Given the description of an element on the screen output the (x, y) to click on. 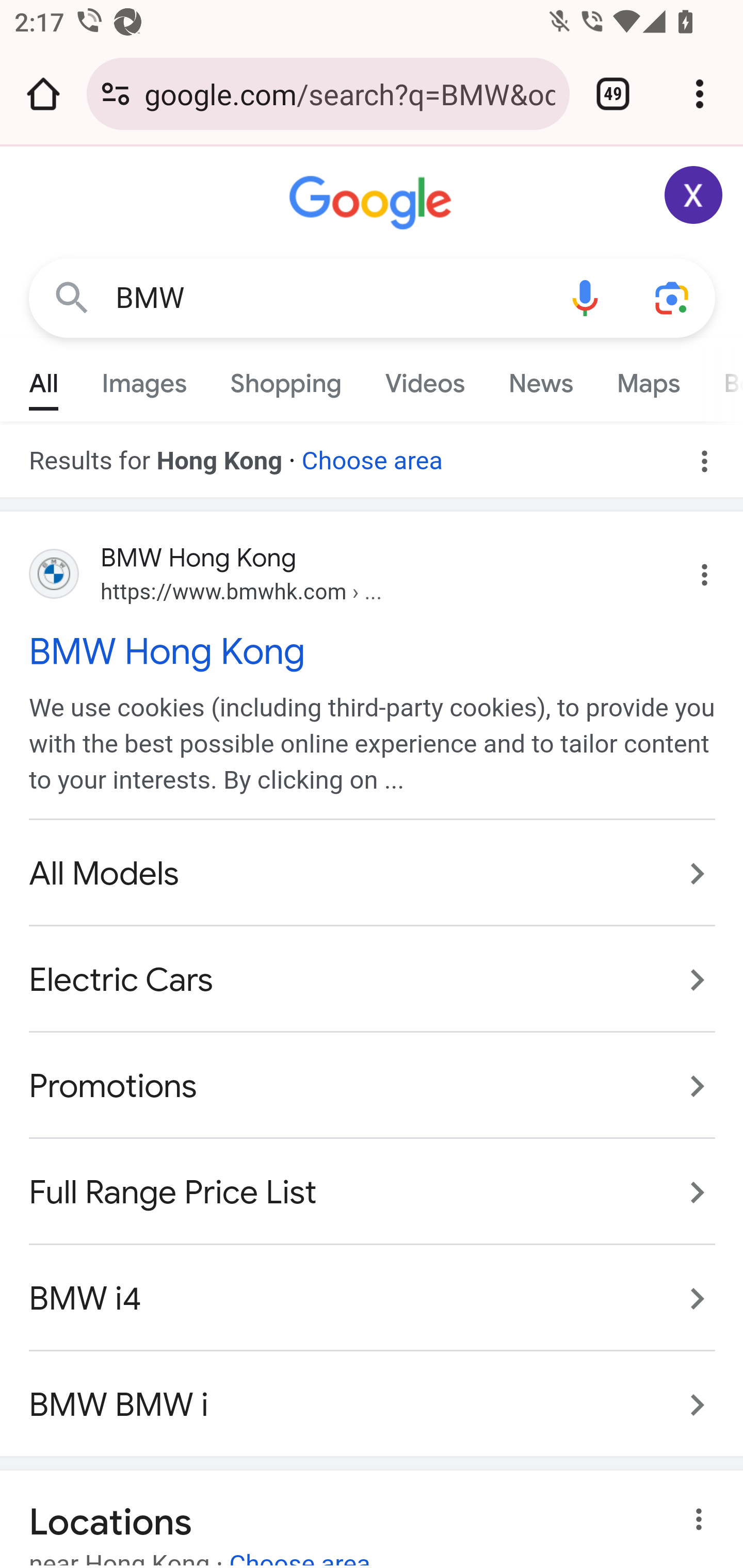
Open the home page (43, 93)
Connection is secure (115, 93)
Switch or close tabs (612, 93)
Customize and control Google Chrome (699, 93)
Google (372, 203)
Google Account: Xiaoran (zxrappiumtest@gmail.com) (694, 195)
Google Search (71, 296)
Search using your camera or photos (672, 296)
BMW (328, 297)
Images (144, 378)
Shopping (285, 378)
Videos (424, 378)
News (540, 378)
Maps (647, 378)
Choose area (371, 453)
BMW Hong Kong (372, 651)
All Models (372, 874)
Electric Cars (372, 981)
Promotions (372, 1087)
Full Range Price List (372, 1191)
BMW i4 (372, 1297)
BMW BMW i (372, 1393)
About this result (702, 1519)
